Given the description of an element on the screen output the (x, y) to click on. 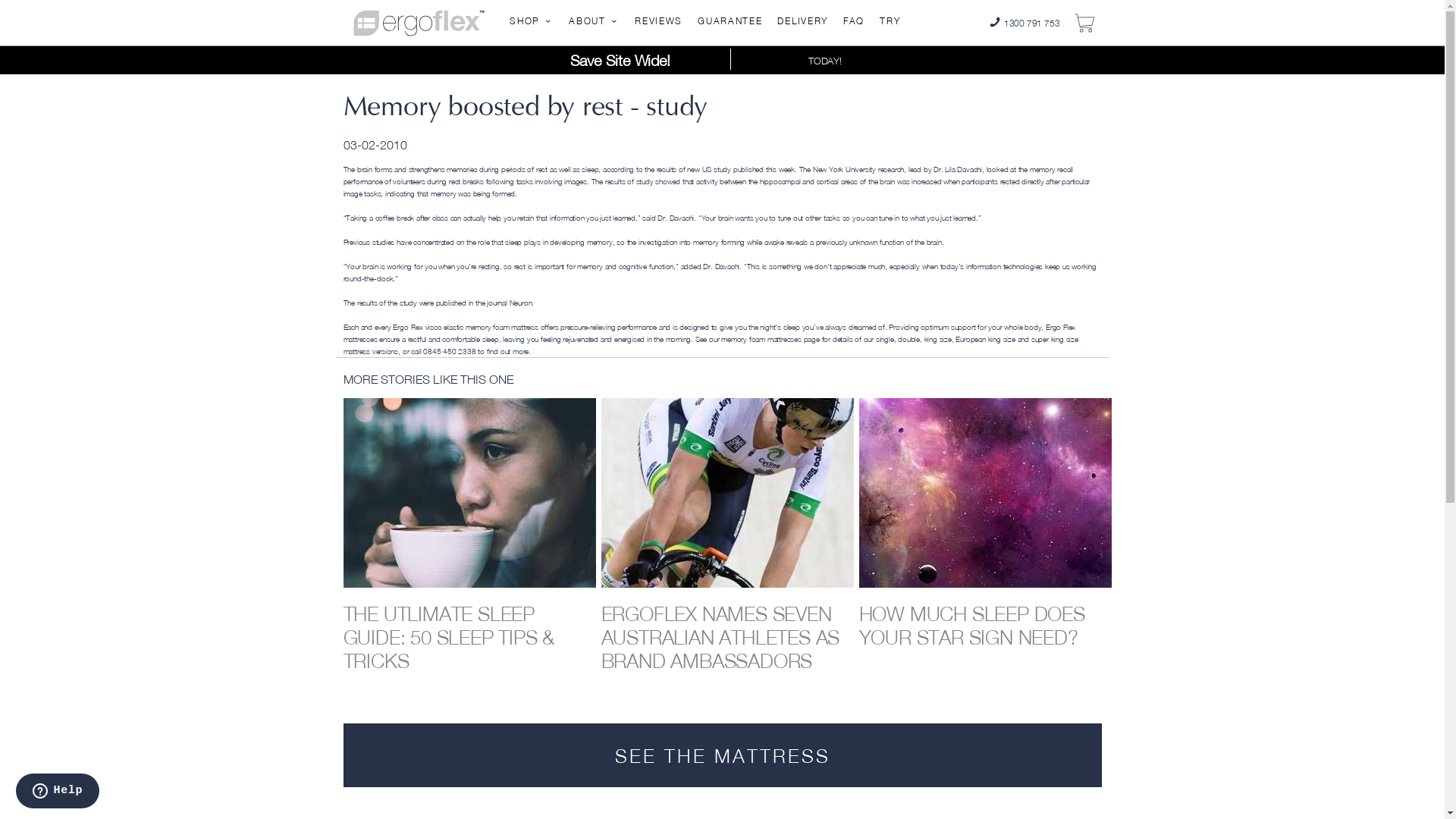
SHOP Element type: text (531, 21)
HOW MUCH SLEEP DOES YOUR STAR SIGN NEED? Element type: text (971, 625)
THE UTLIMATE SLEEP GUIDE: 50 SLEEP TIPS & TRICKS Element type: text (448, 637)
DELIVERY Element type: text (802, 21)
Ergoflex home page - HD memory foam mattress Element type: hover (418, 21)
REVIEWS Element type: text (658, 21)
TRY Element type: text (889, 21)
GUARANTEE Element type: text (729, 21)
1300 791 753 Element type: text (1023, 22)
FAQ Element type: text (853, 21)
ABOUT Element type: text (594, 21)
SEE THE MATTRESS Element type: text (721, 755)
Opens a widget where you can chat to one of our agents Element type: hover (57, 792)
